Given the description of an element on the screen output the (x, y) to click on. 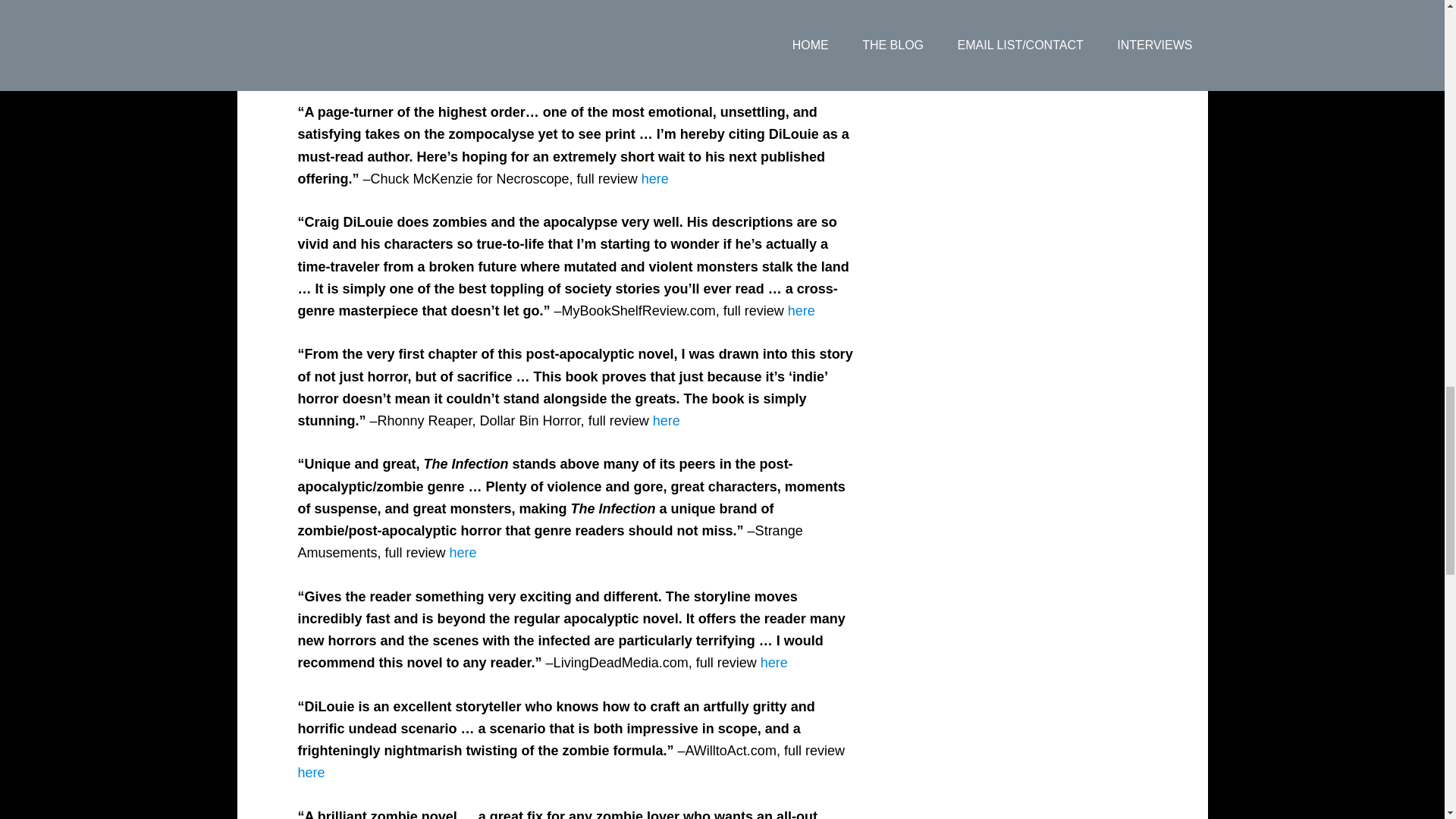
here (376, 68)
here (310, 772)
here (773, 662)
here (655, 178)
here (665, 420)
here (463, 552)
here (801, 310)
